Given the description of an element on the screen output the (x, y) to click on. 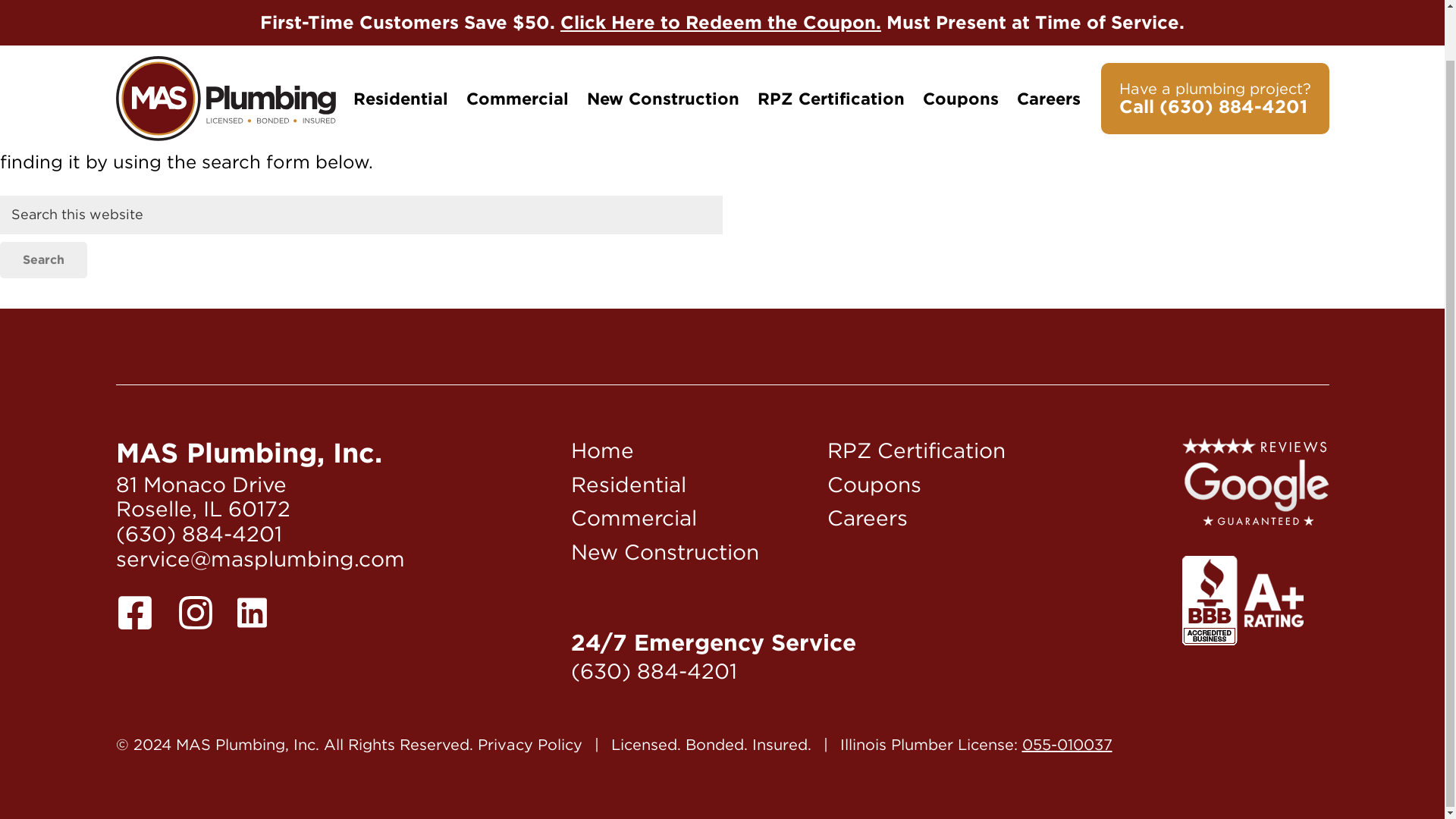
Careers (867, 517)
Coupons (959, 44)
Coupons (874, 484)
MAS Plumbing (224, 44)
Search (43, 259)
Search (43, 259)
Residential (627, 484)
Home (601, 450)
Commercial (633, 517)
RPZ Certification (830, 44)
homepage (792, 140)
Residential (400, 44)
Careers (1048, 44)
RPZ Certification (916, 450)
New Construction (664, 551)
